Given the description of an element on the screen output the (x, y) to click on. 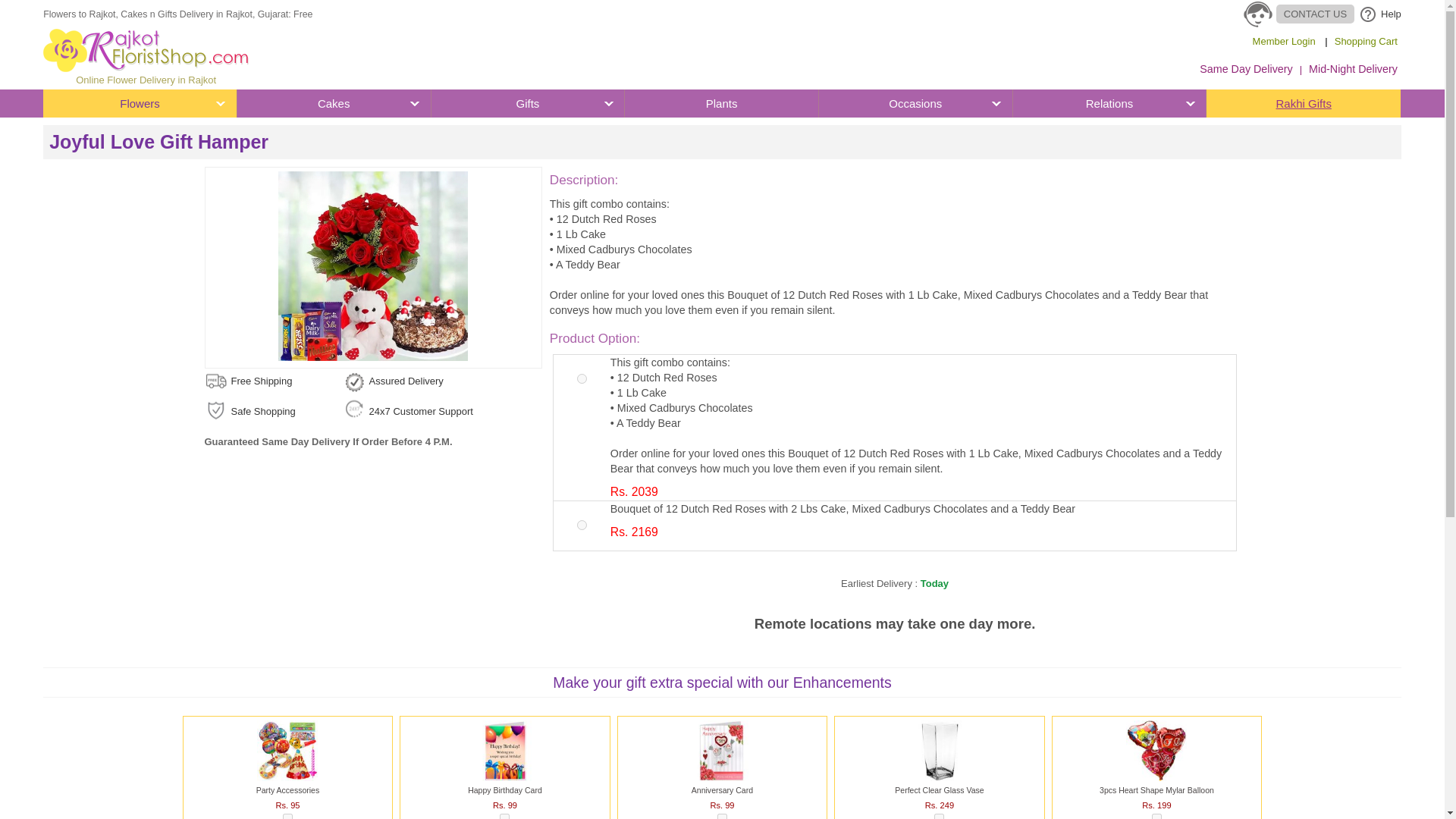
CONTACT US (1298, 13)
Midnight Delivery Cake, Flowers And Gifts (1352, 68)
Member Login (1284, 41)
CMH105 (581, 378)
Help Desk (1377, 13)
Mid-Night Delivery (1352, 68)
Shopping Cart (1365, 41)
Cakes (333, 103)
CMH105A (581, 524)
Cakes (333, 103)
Same Day Delivery Gifts, Flowers And Cakes Online (1245, 68)
Flowers (140, 103)
Online Flower Delivery in Rajkot (145, 57)
Help (1377, 13)
